Given the description of an element on the screen output the (x, y) to click on. 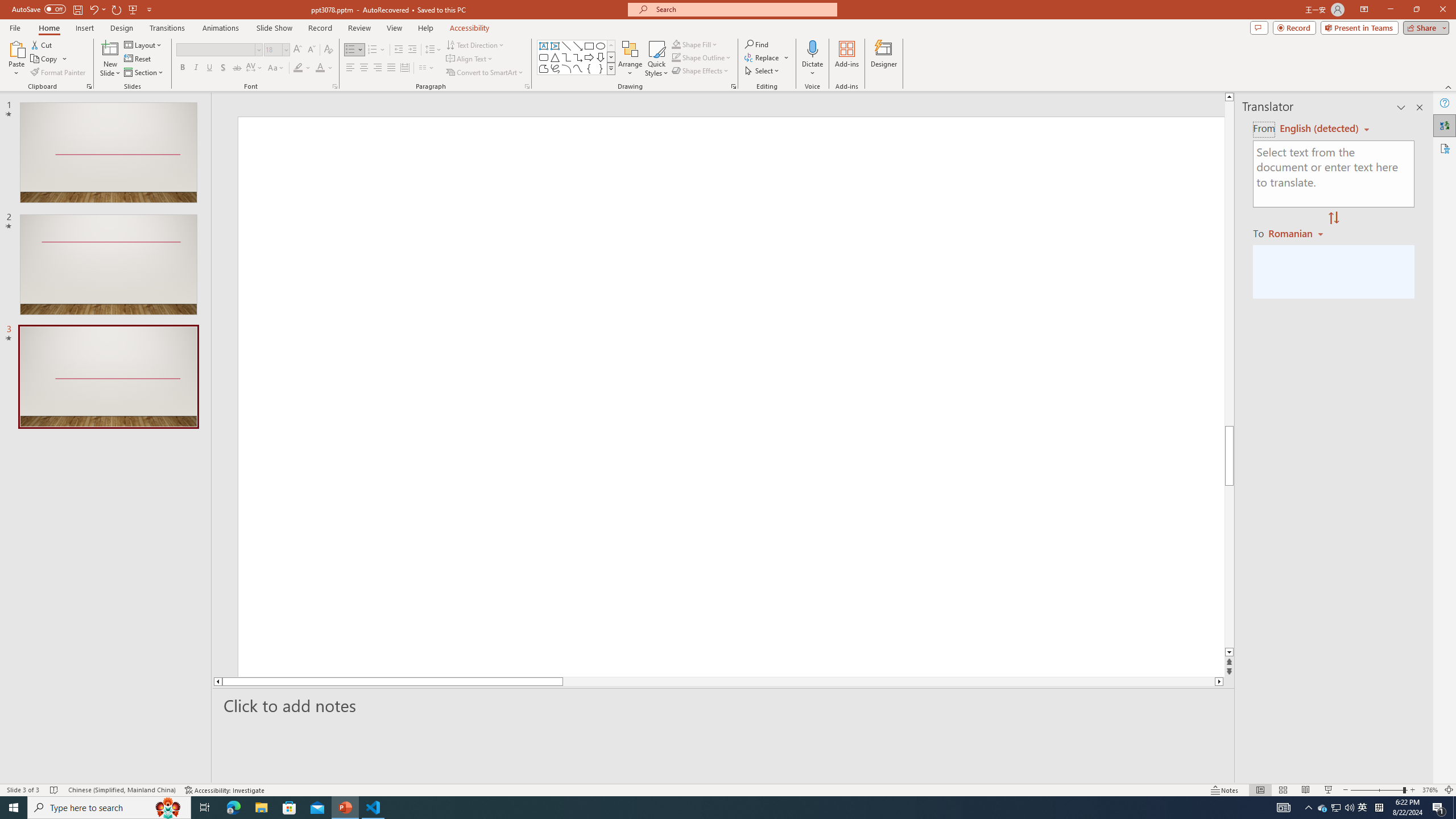
Romanian (1296, 232)
